Given the description of an element on the screen output the (x, y) to click on. 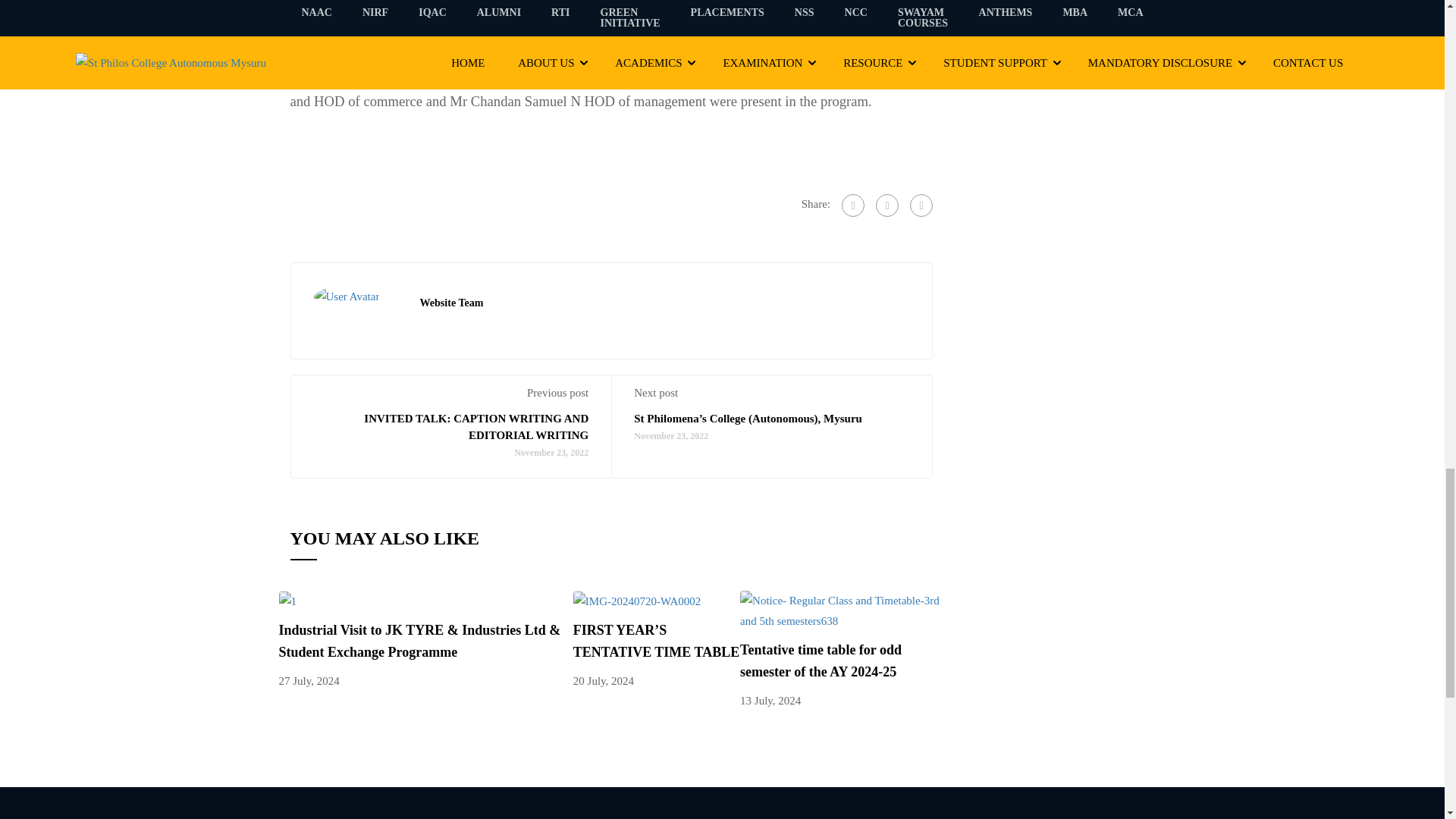
IMG-20240720-WA0002 (636, 601)
Tentative time table for odd semester of the AY 2024-25 (841, 610)
Facebook (852, 205)
Notice- Regular Class and Timetable-3rd and 5th semesters638 (841, 610)
Pinterest (921, 205)
Twitter (887, 205)
